Given the description of an element on the screen output the (x, y) to click on. 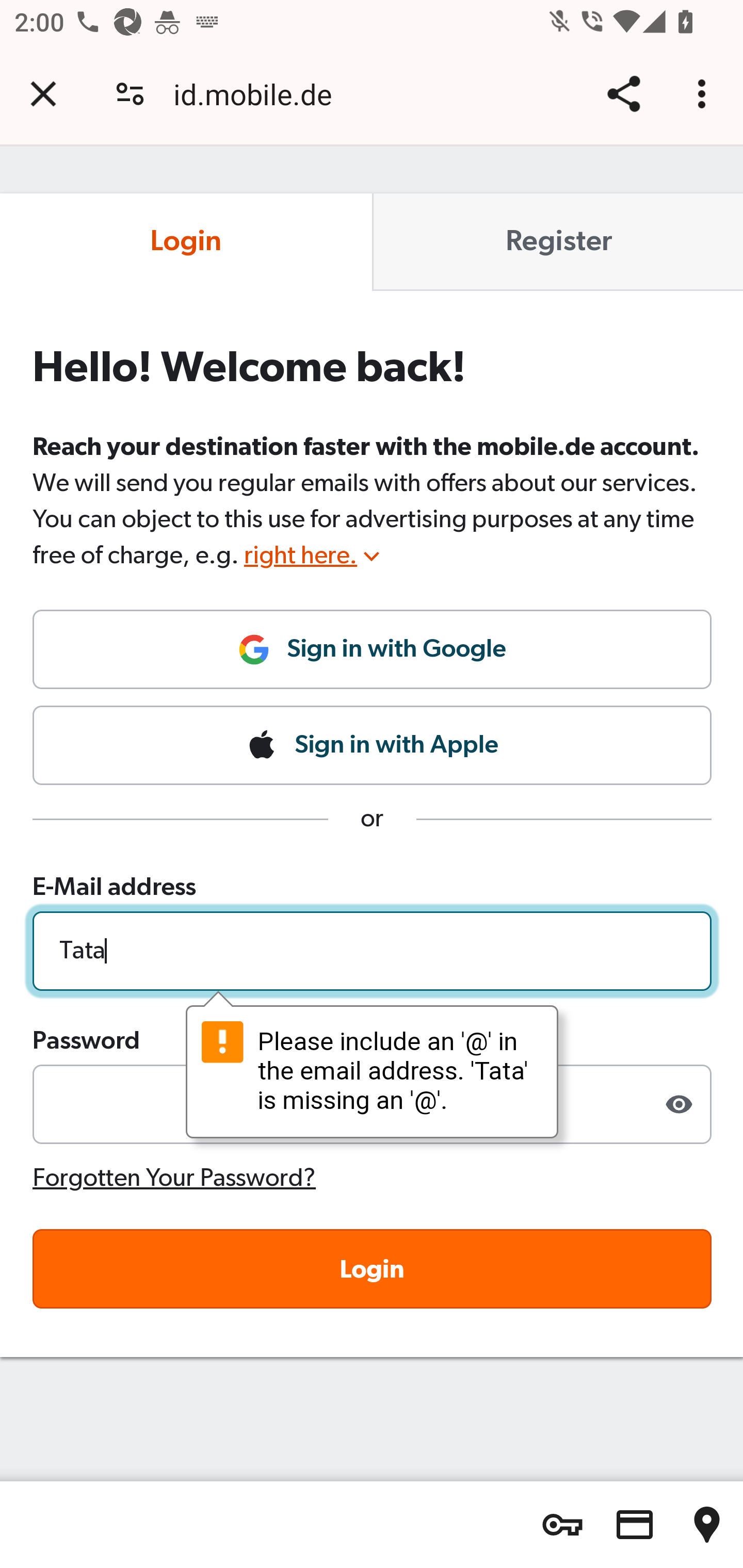
Close tab (43, 93)
Share (623, 93)
Customize and control Google Chrome (705, 93)
Connection is secure (129, 93)
id.mobile.de (259, 93)
Login (186, 242)
Register (557, 242)
Sign in with Google (372, 656)
Sign in with Apple (372, 744)
Tata (372, 949)
Forgotten Your Password? (175, 1177)
Login (372, 1268)
Show saved passwords and password options (562, 1524)
Show saved payment methods (634, 1524)
Show saved addresses (706, 1524)
